Given the description of an element on the screen output the (x, y) to click on. 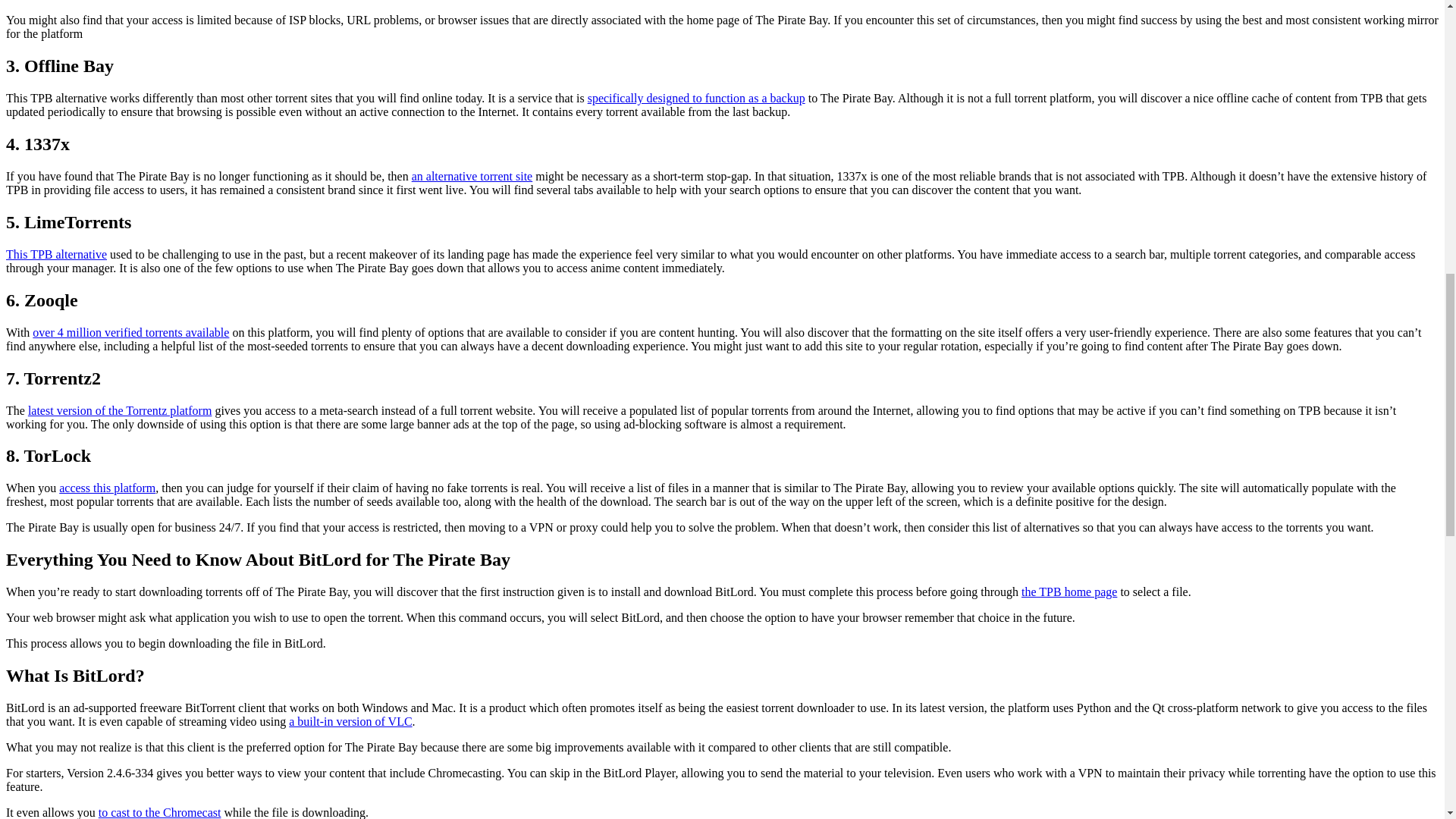
access this platform (107, 487)
a built-in version of VLC (350, 721)
specifically designed to function as a backup (696, 97)
the TPB home page (1069, 591)
an alternative torrent site (472, 175)
latest version of the Torrentz platform (119, 409)
This TPB alternative (55, 254)
to cast to the Chromecast (160, 812)
over 4 million verified torrents available (130, 332)
